Given the description of an element on the screen output the (x, y) to click on. 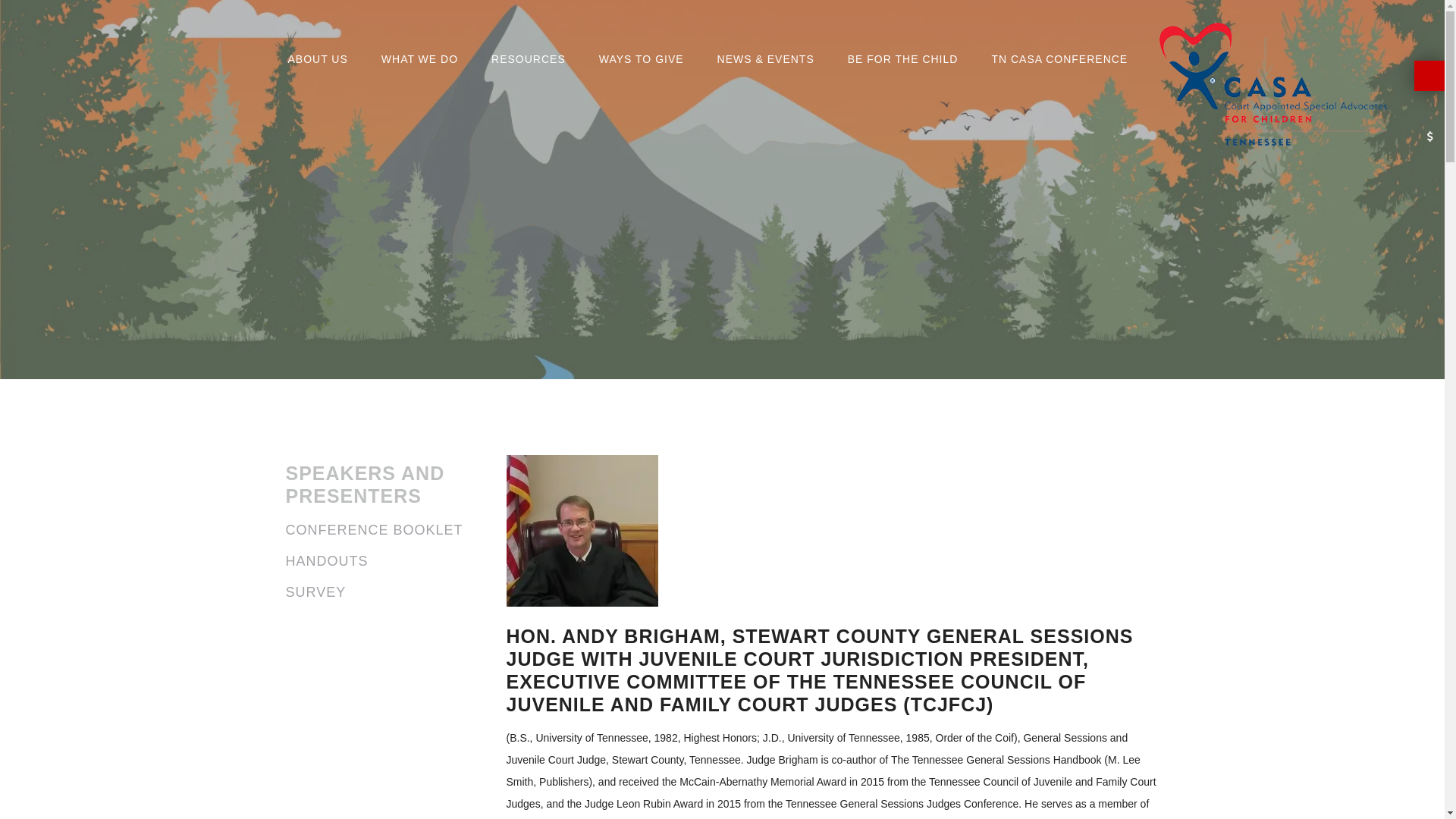
logo (1272, 84)
